Given the description of an element on the screen output the (x, y) to click on. 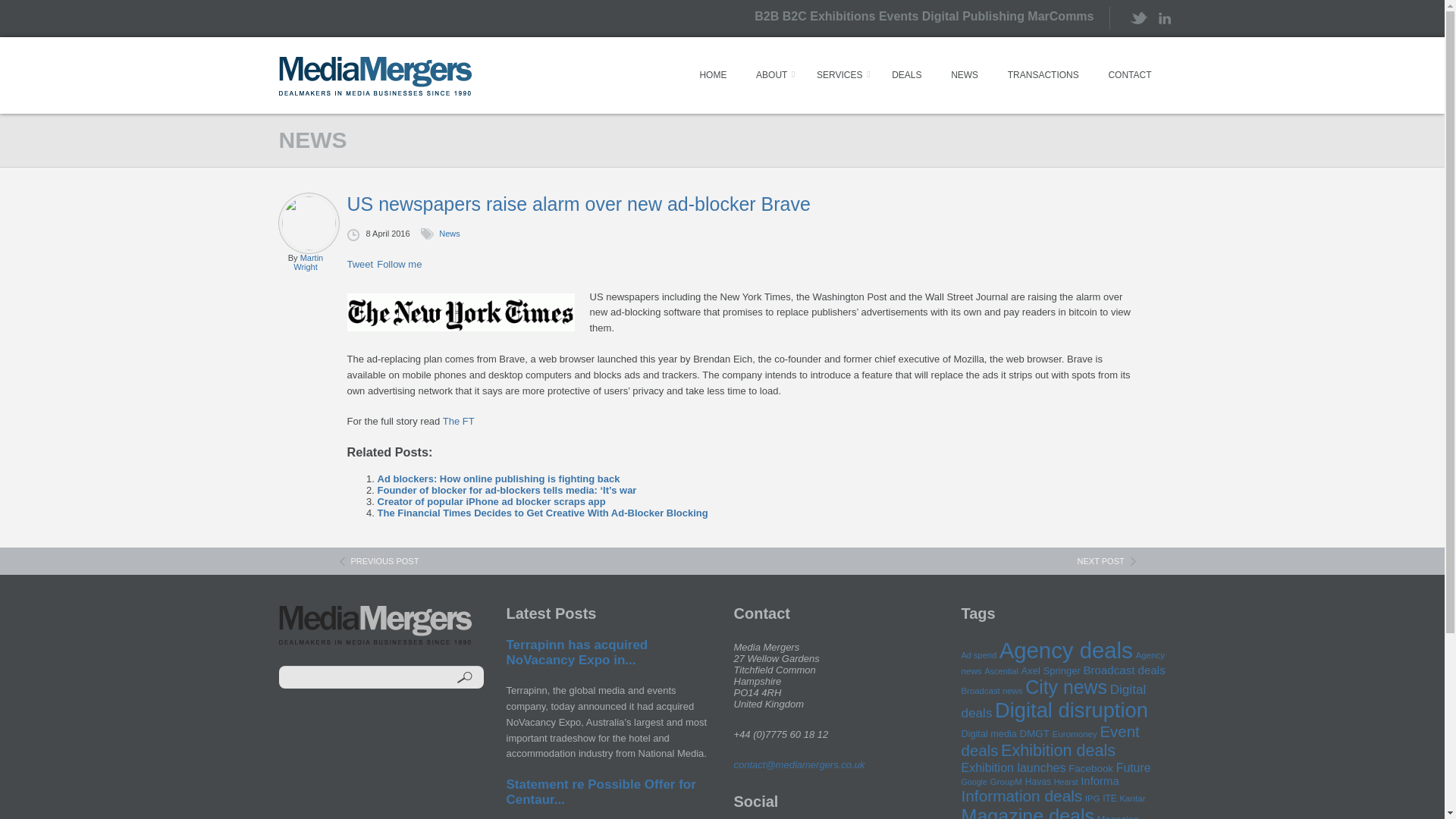
Twitter (1137, 17)
US newspapers raise alarm over new ad-blocker Brave (741, 204)
Martin Wright (308, 262)
NEWS (964, 74)
News (449, 233)
Statement re Possible Offer for Centaur... (600, 791)
Creator of popular iPhone ad blocker scraps app (491, 501)
Posts by Martin Wright (308, 262)
Ascential (1000, 670)
Creator of popular iPhone ad blocker scraps app (491, 501)
DEALS (905, 74)
Terrapinn has acquired NoVacancy Expo in Australia (576, 652)
TRANSACTIONS (1043, 74)
